Given the description of an element on the screen output the (x, y) to click on. 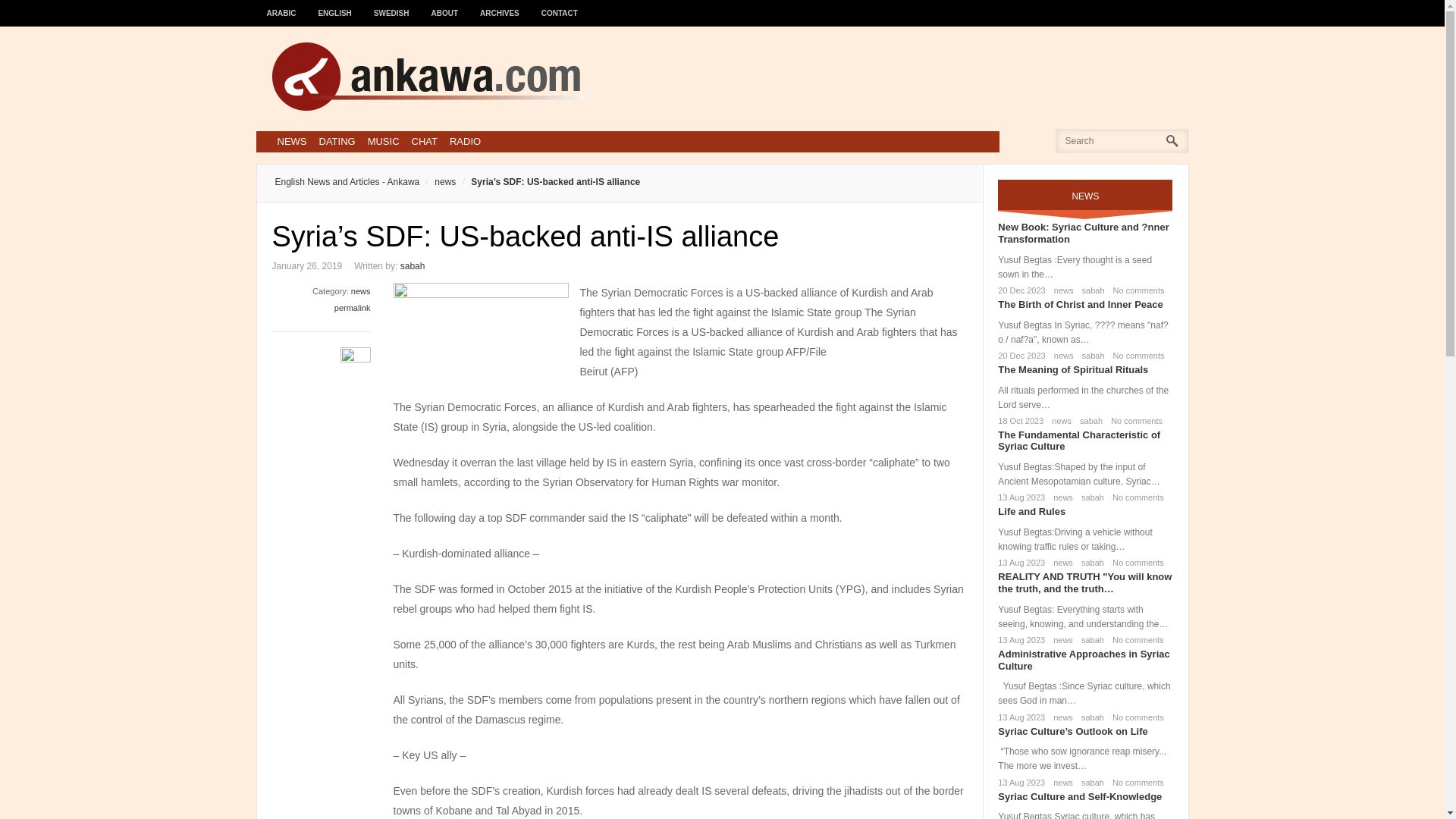
news (360, 290)
sabah (1090, 289)
ARABIC (281, 5)
sabah (1089, 562)
news (1059, 562)
No comments (1133, 420)
New Book: Syriac Culture and ?nner Transformation (1083, 232)
permalink (352, 307)
NEWS (291, 141)
sabah (1089, 497)
